Given the description of an element on the screen output the (x, y) to click on. 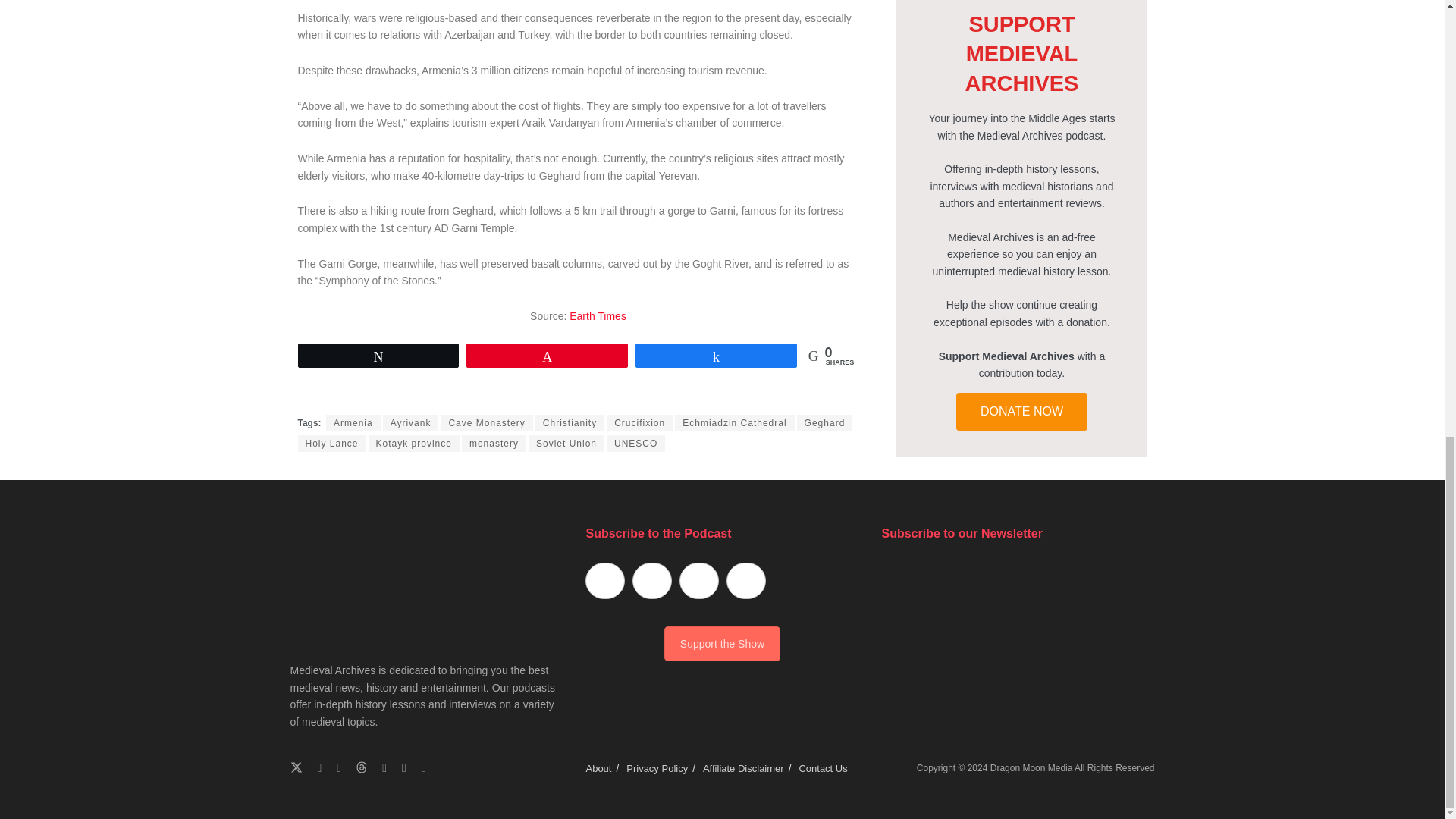
Subscribe on Apple Podcasts (604, 580)
Subscribe on Android (651, 580)
Subscribe via RSS (745, 580)
Subscribe by Email (699, 580)
